Given the description of an element on the screen output the (x, y) to click on. 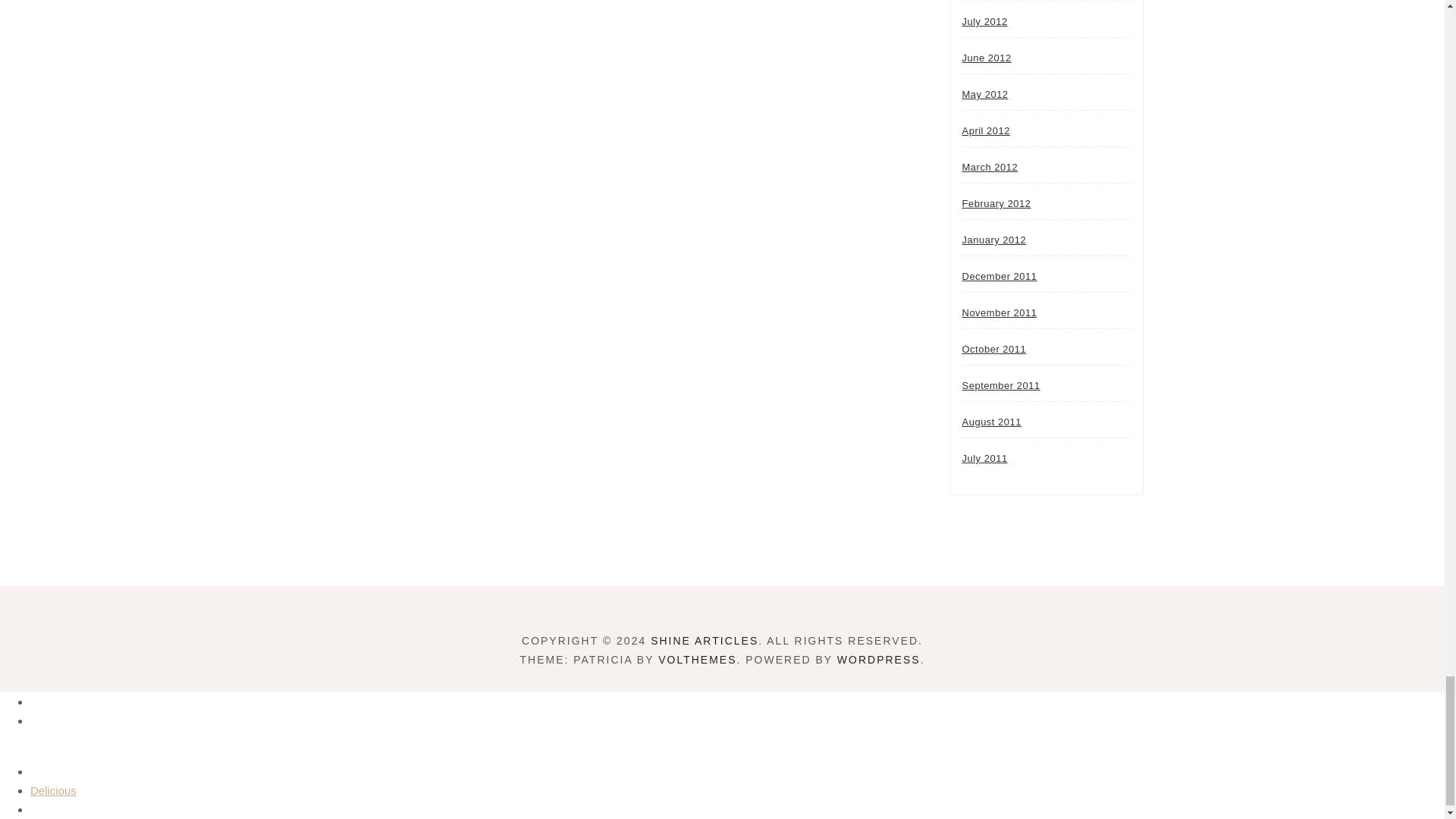
Shine Articles (704, 640)
WordPress (878, 659)
VolThemes (697, 659)
